Given the description of an element on the screen output the (x, y) to click on. 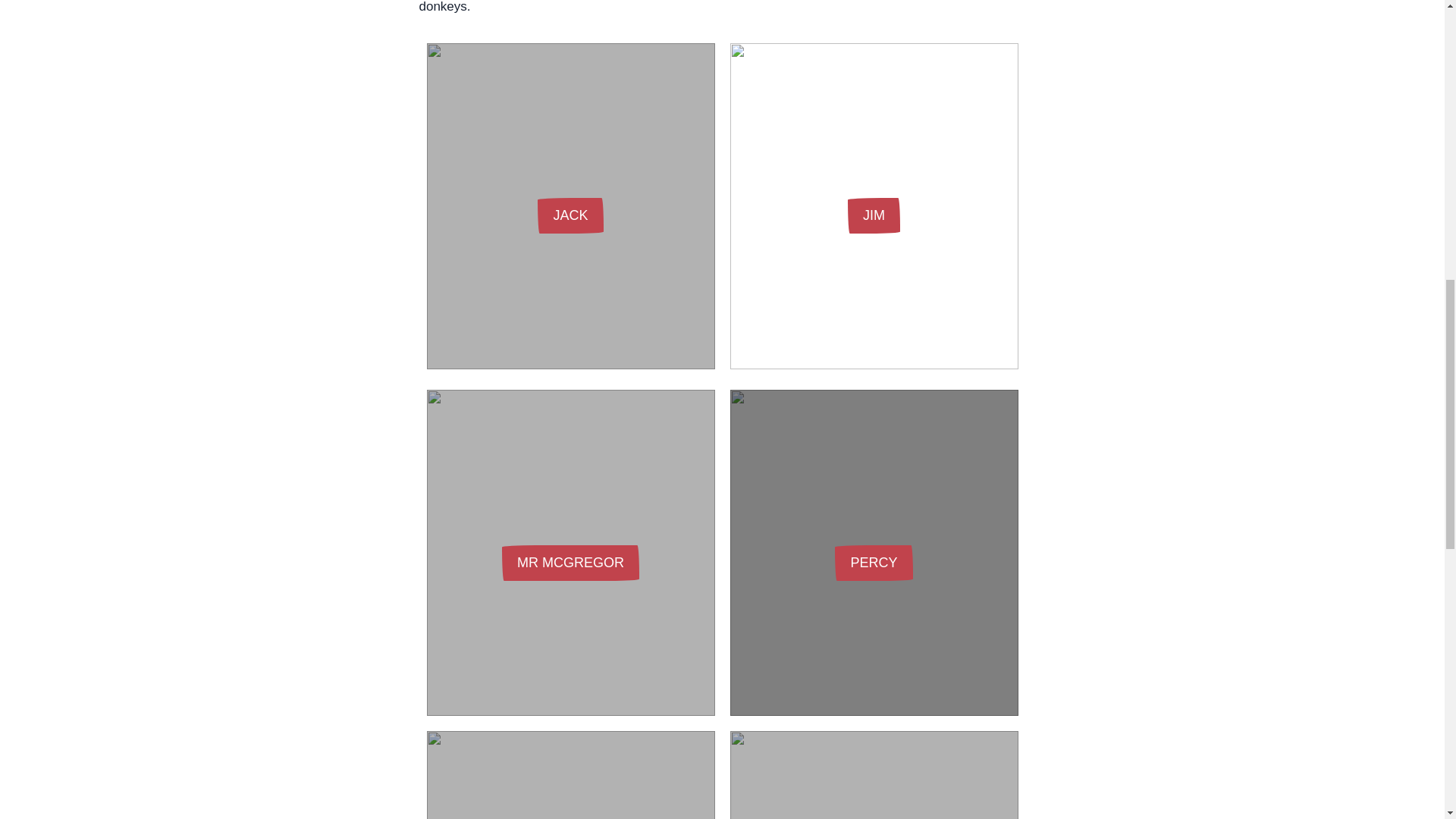
JACK (569, 215)
JIM (873, 215)
MR MCGREGOR (570, 562)
PERCY (873, 562)
